Given the description of an element on the screen output the (x, y) to click on. 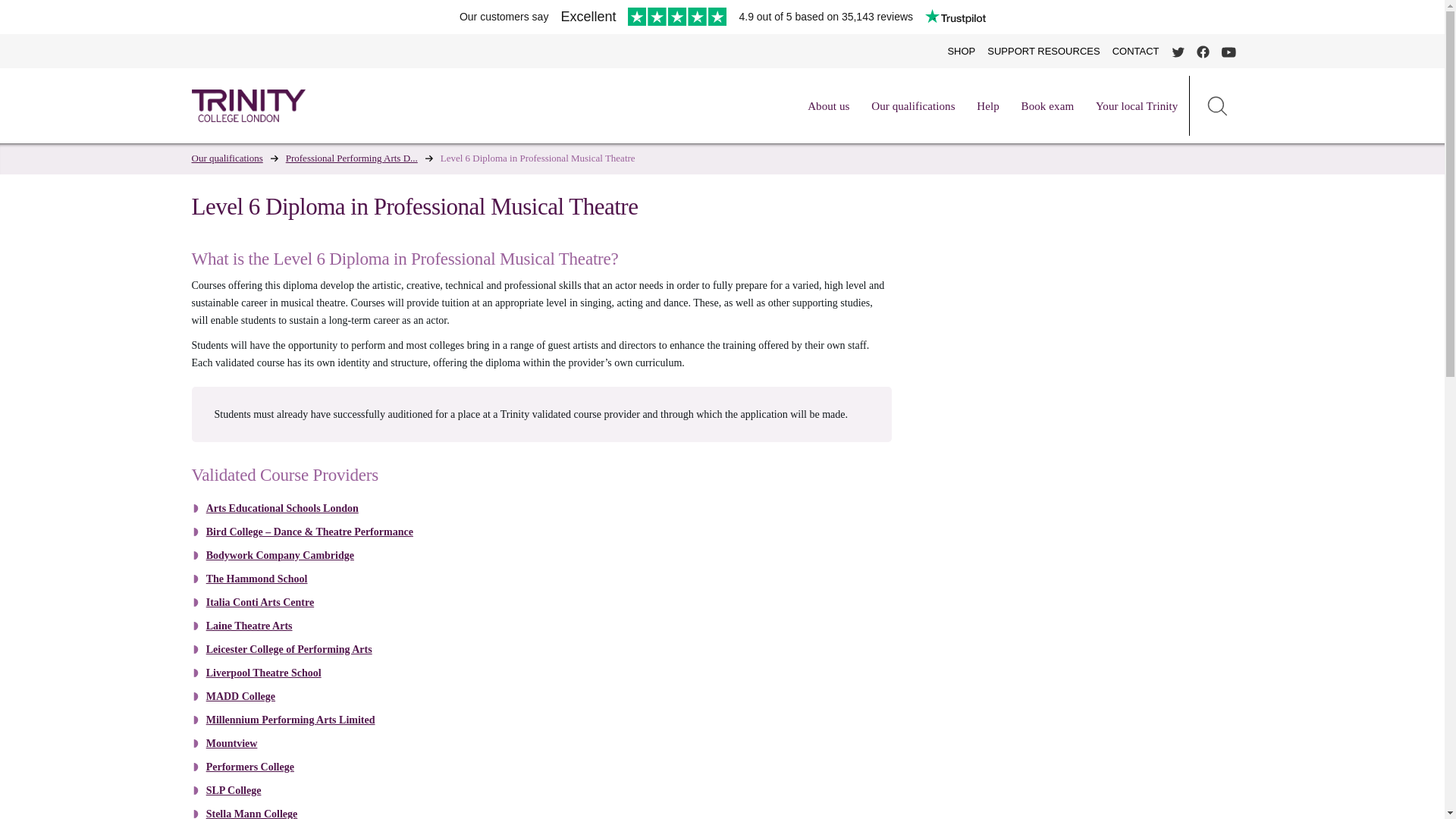
Link will open in new window (256, 578)
Link will open in new window (250, 767)
Our qualifications (913, 106)
About us (828, 106)
Link will open in new window (249, 625)
Link will open in new window (231, 743)
Link will open in new window (290, 719)
SHOP (960, 50)
Link will open in new window (289, 649)
Link will open in new window (279, 555)
Link will open in new window (282, 508)
Link will open in new window (309, 531)
CONTACT (1136, 50)
Link will open in new window (234, 790)
Link will open in new window (240, 696)
